Given the description of an element on the screen output the (x, y) to click on. 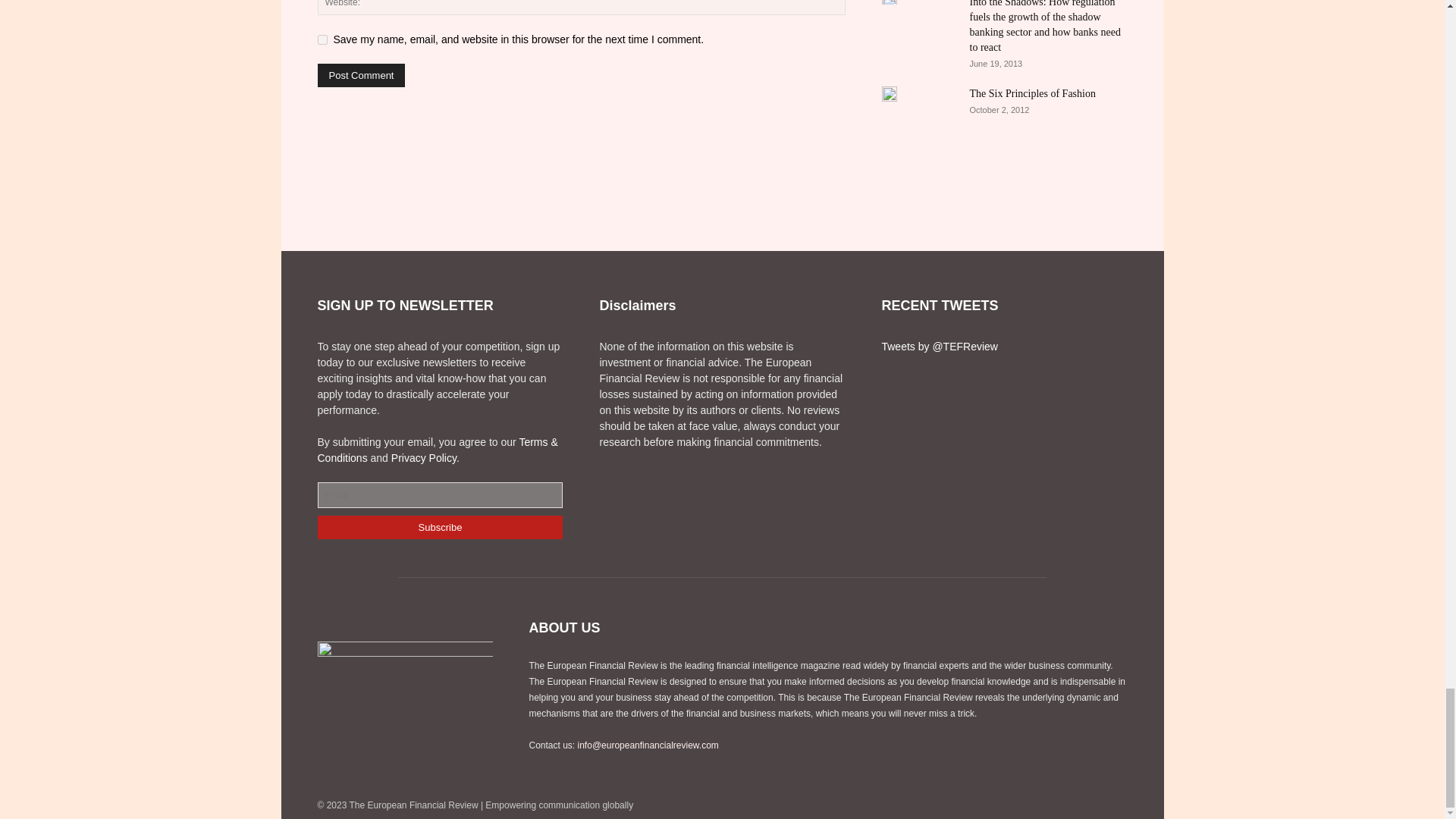
Post Comment (360, 74)
Subscribe (439, 526)
yes (321, 40)
